Given the description of an element on the screen output the (x, y) to click on. 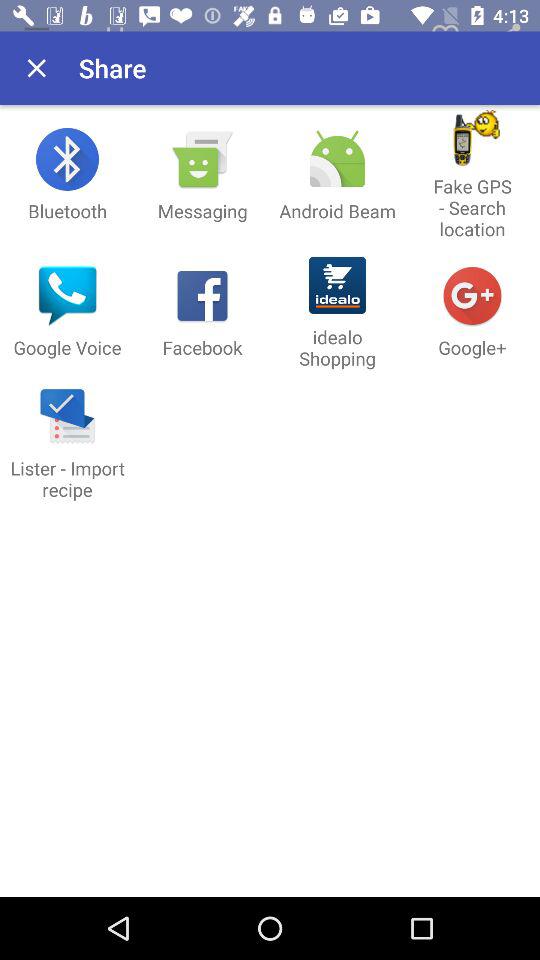
click on the button which is below the messaging button (202, 312)
click on icon above messaging (202, 159)
